Given the description of an element on the screen output the (x, y) to click on. 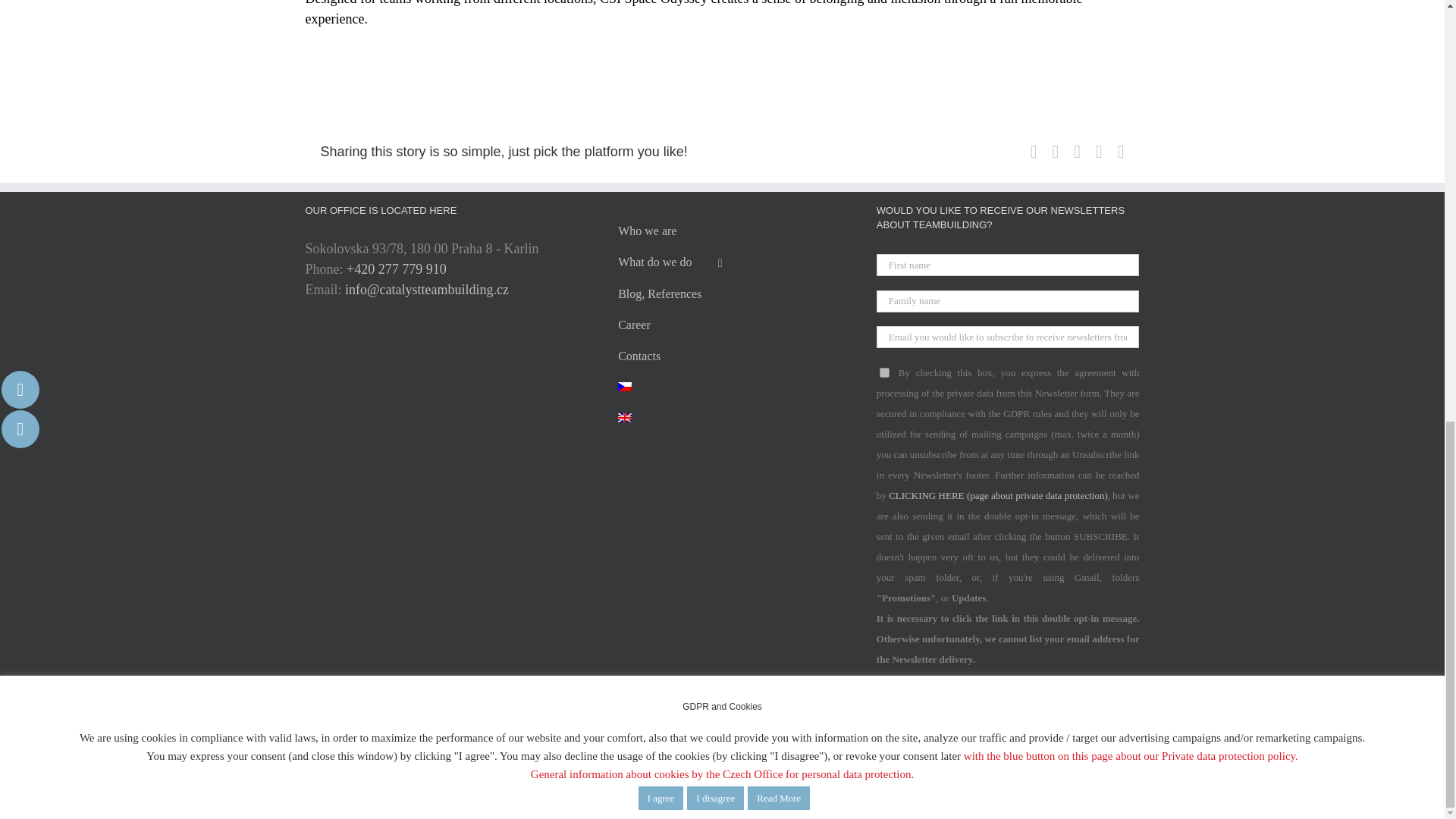
on (884, 372)
SUBSCRIBE (919, 718)
